Given the description of an element on the screen output the (x, y) to click on. 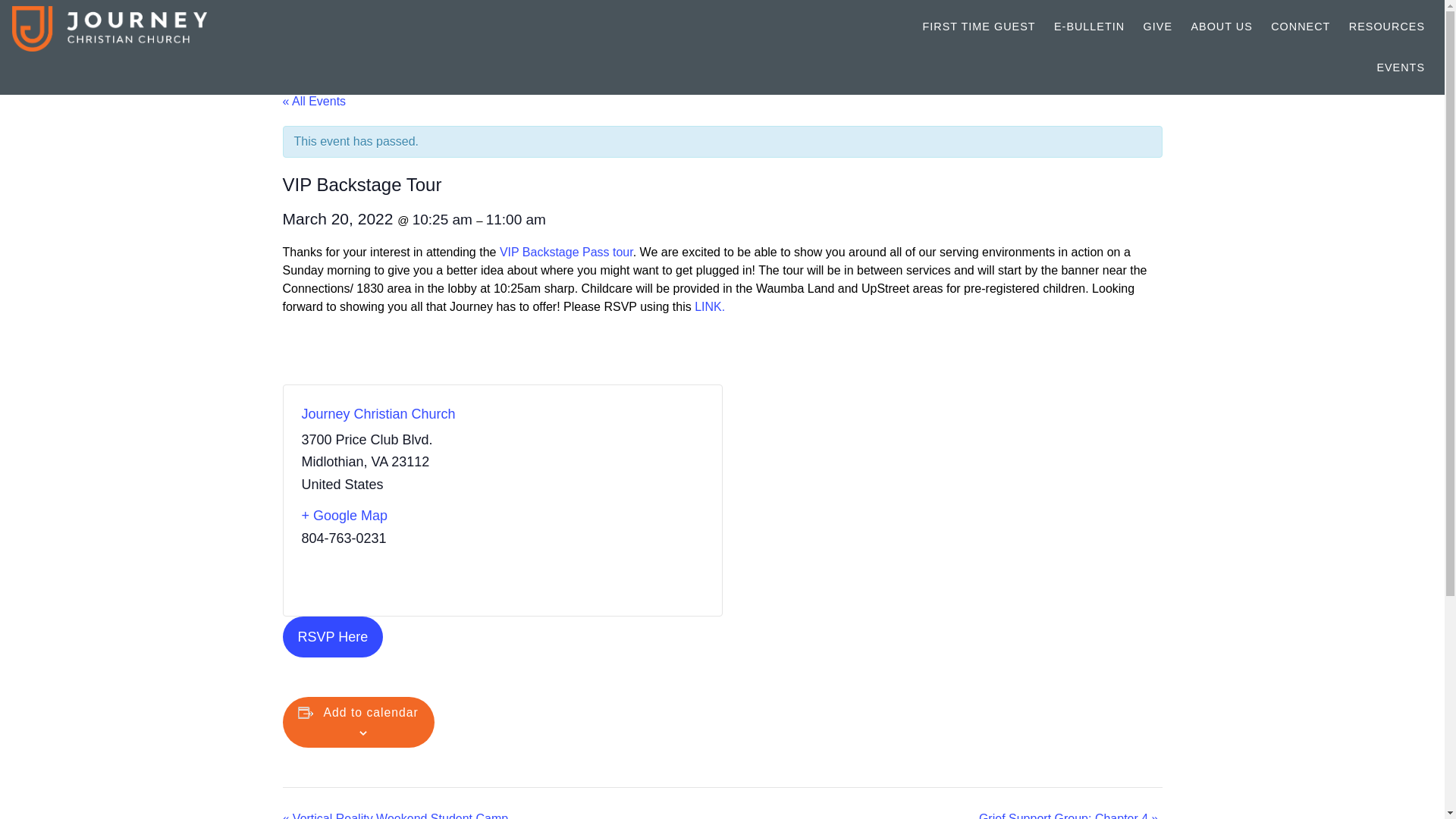
E-BULLETIN (1089, 25)
GIVE (1157, 25)
Click to view a Google Map (395, 516)
ABOUT US (1220, 25)
VIP Backstage Pass tour (566, 251)
JOURNEY CHRISTIAN CHURCH (148, 28)
RESOURCES (1386, 25)
CONNECT (1300, 25)
Add to calendar (371, 712)
Journey Christian Church (378, 413)
RSVP Here (332, 636)
LINK. (709, 306)
Virginia (379, 461)
EVENTS (1400, 66)
FIRST TIME GUEST (979, 25)
